Given the description of an element on the screen output the (x, y) to click on. 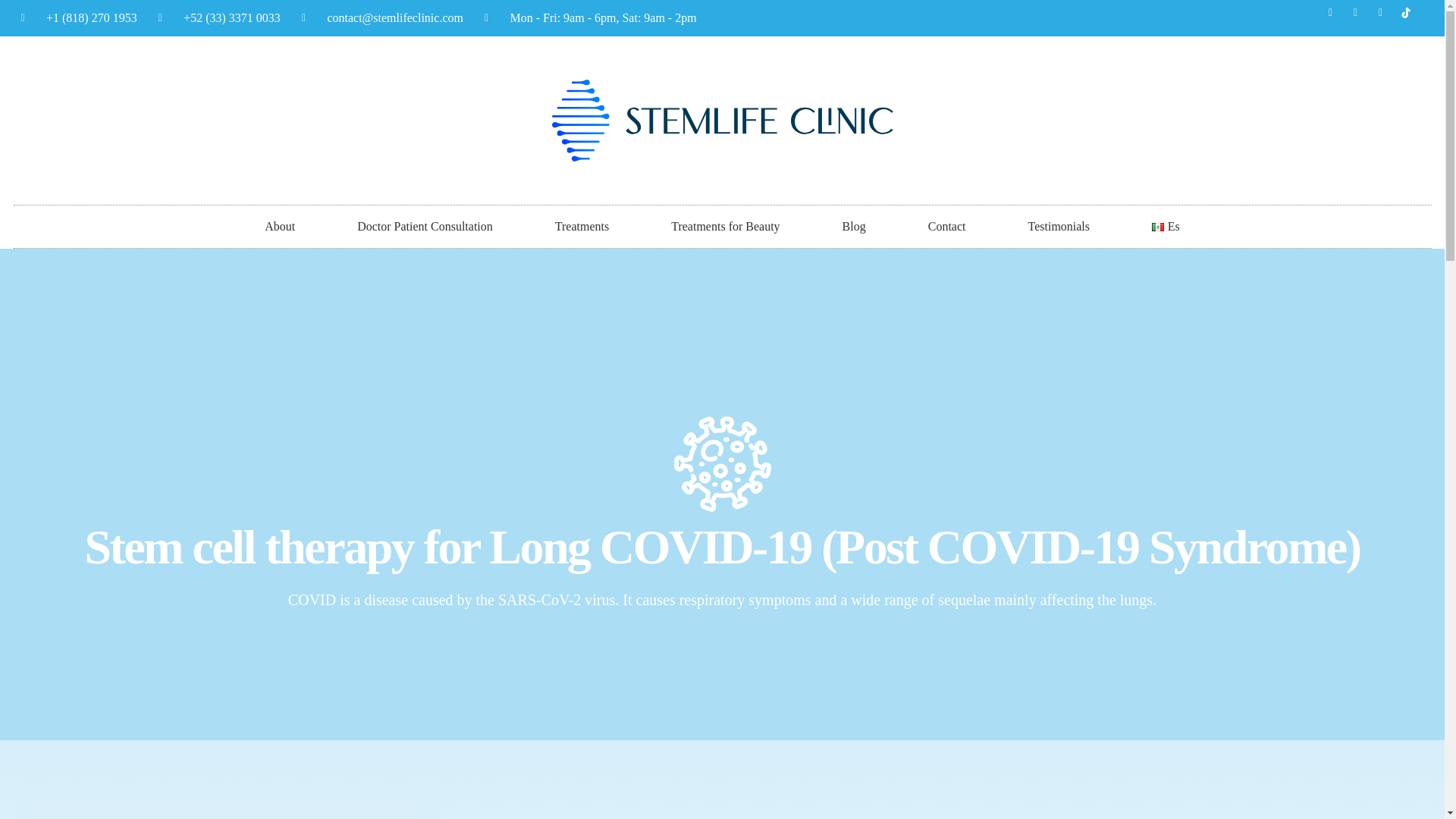
Treatments (582, 226)
Doctor Patient Consultation (425, 226)
About (279, 226)
